Given the description of an element on the screen output the (x, y) to click on. 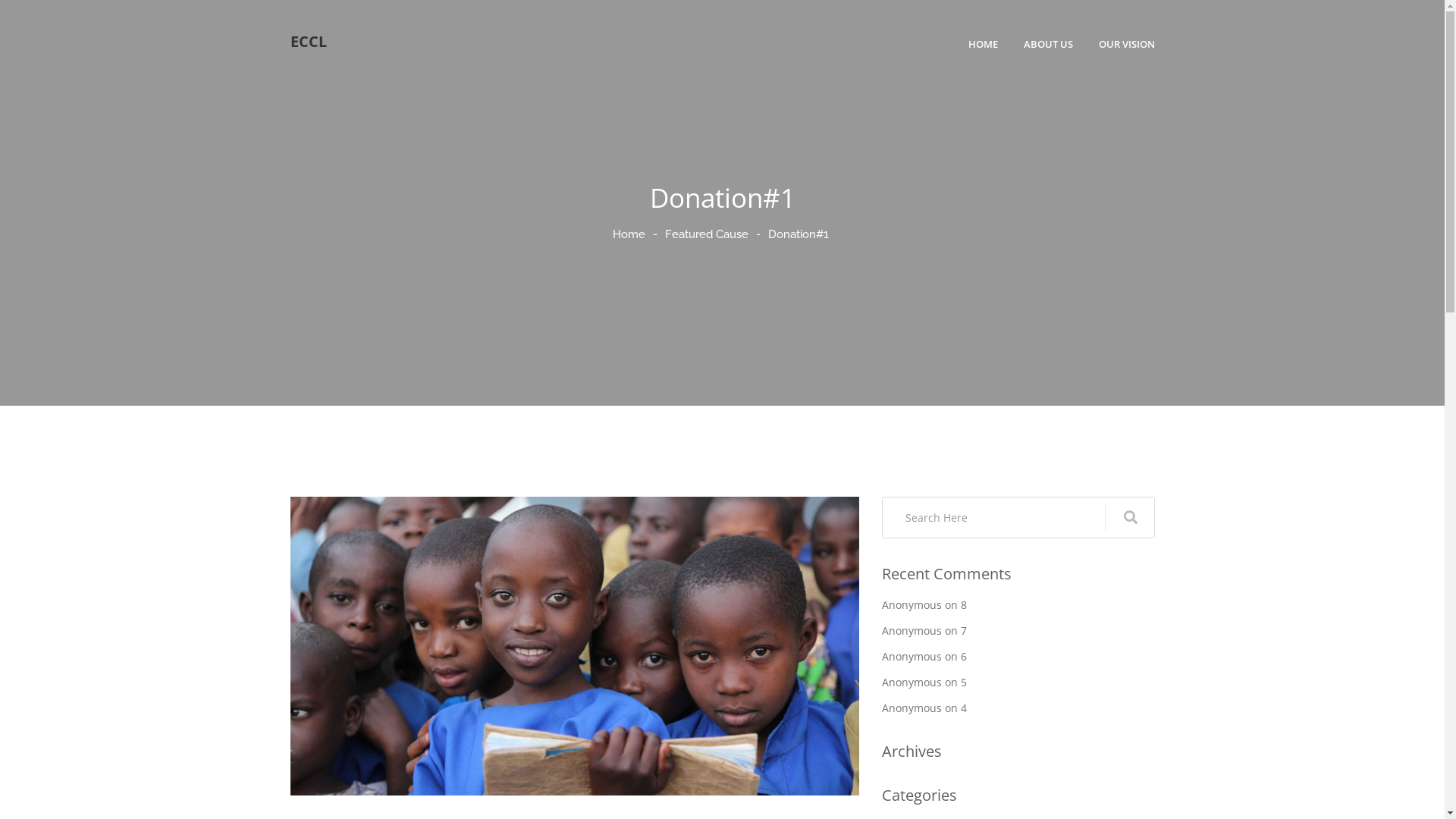
ECCL Element type: text (307, 41)
OUR VISION Element type: text (1126, 44)
6 Element type: text (963, 656)
ABOUT US Element type: text (1048, 44)
8 Element type: text (963, 604)
7 Element type: text (963, 630)
4 Element type: text (963, 707)
Home Element type: text (628, 234)
5 Element type: text (963, 681)
Featured Cause Element type: text (706, 234)
HOME Element type: text (982, 44)
